Given the description of an element on the screen output the (x, y) to click on. 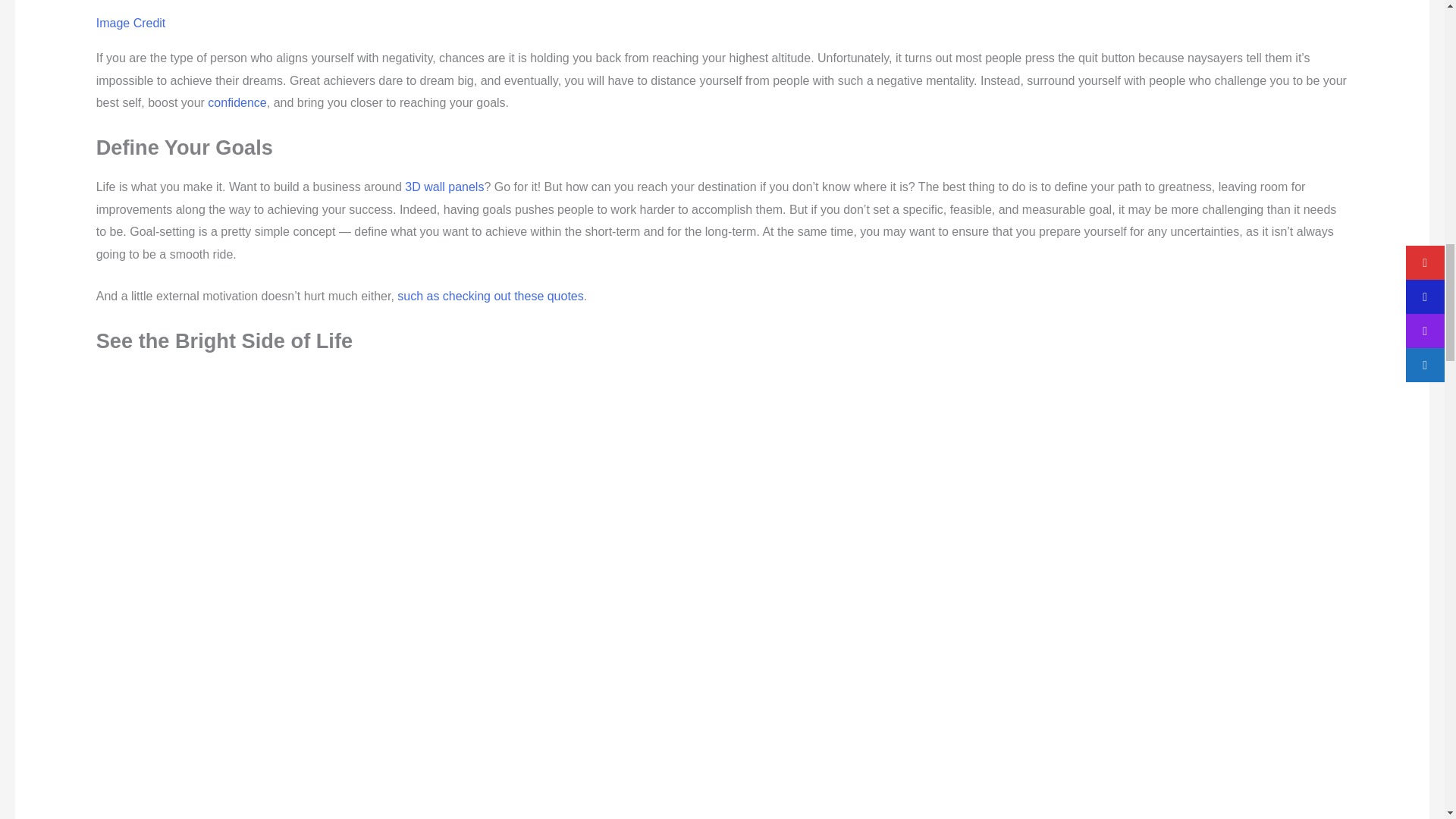
3D wall panels (443, 186)
Image Credit (130, 22)
confidence (237, 102)
such as checking out these quotes (490, 295)
